Given the description of an element on the screen output the (x, y) to click on. 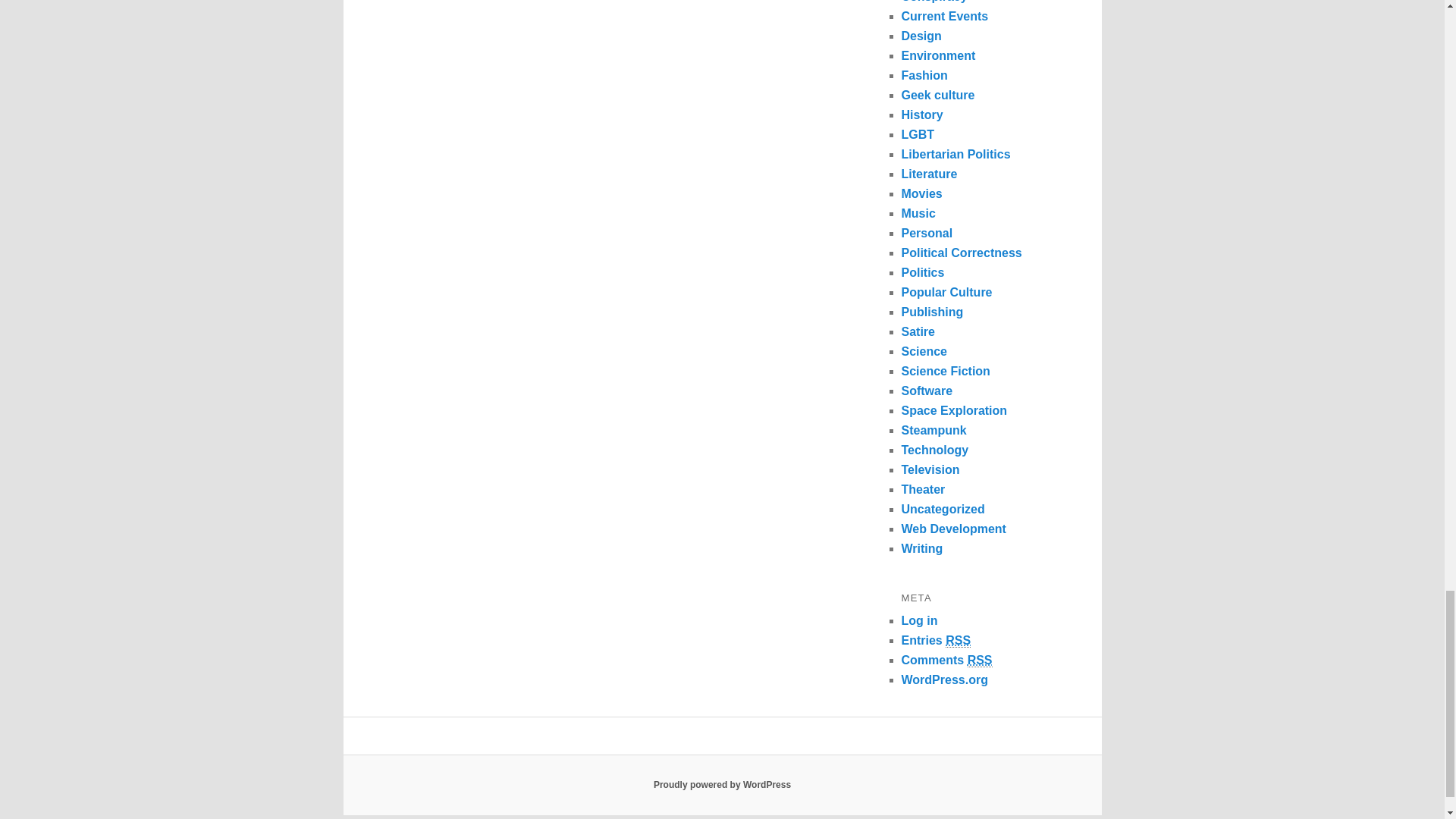
Semantic Personal Publishing Platform (721, 784)
Really Simple Syndication (980, 660)
Really Simple Syndication (957, 640)
